Given the description of an element on the screen output the (x, y) to click on. 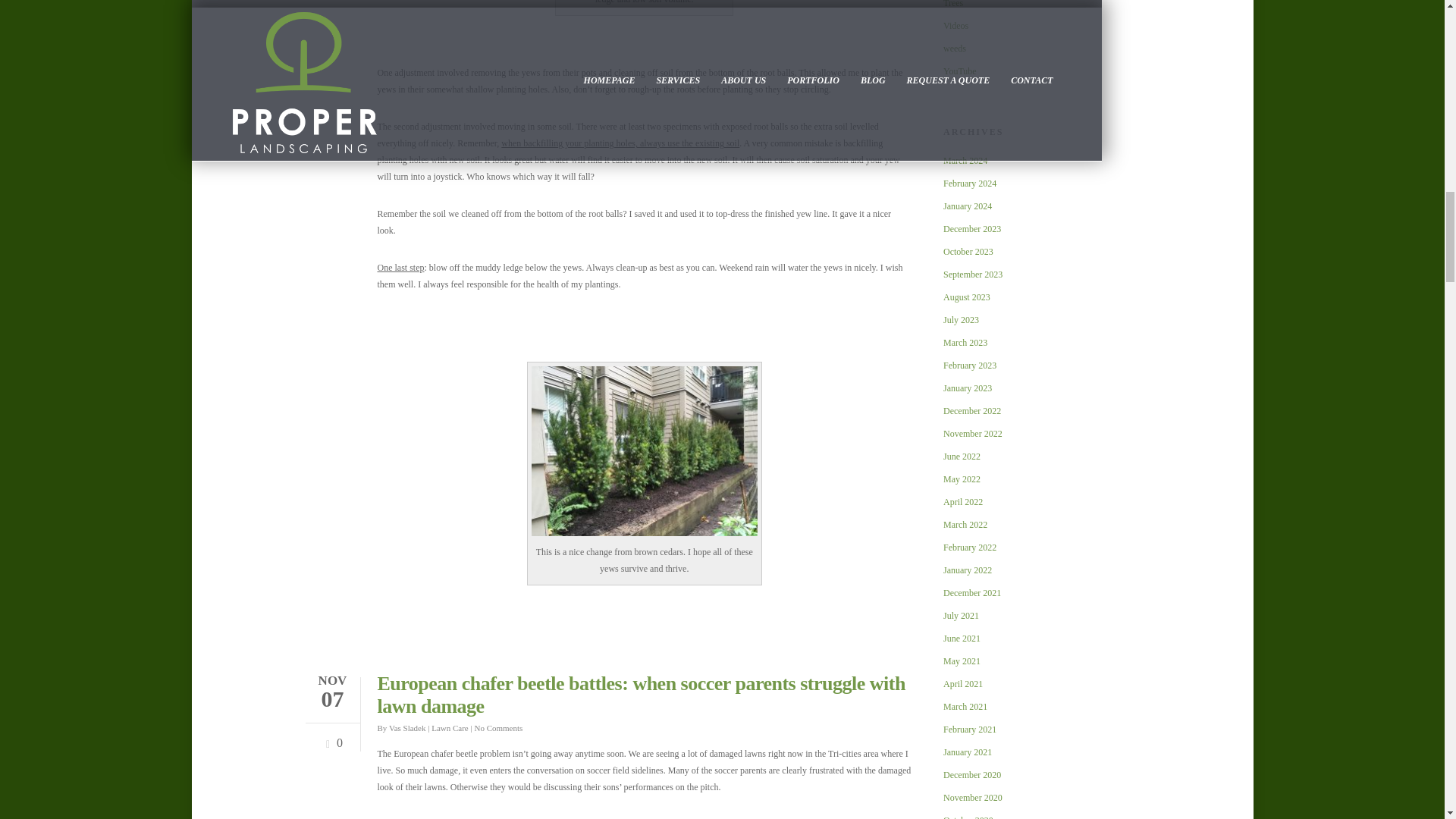
Love this (330, 737)
Posts by Vas Sladek (407, 727)
No Comments (498, 727)
Lawn Care (449, 727)
0 (330, 737)
Vas Sladek (407, 727)
